Given the description of an element on the screen output the (x, y) to click on. 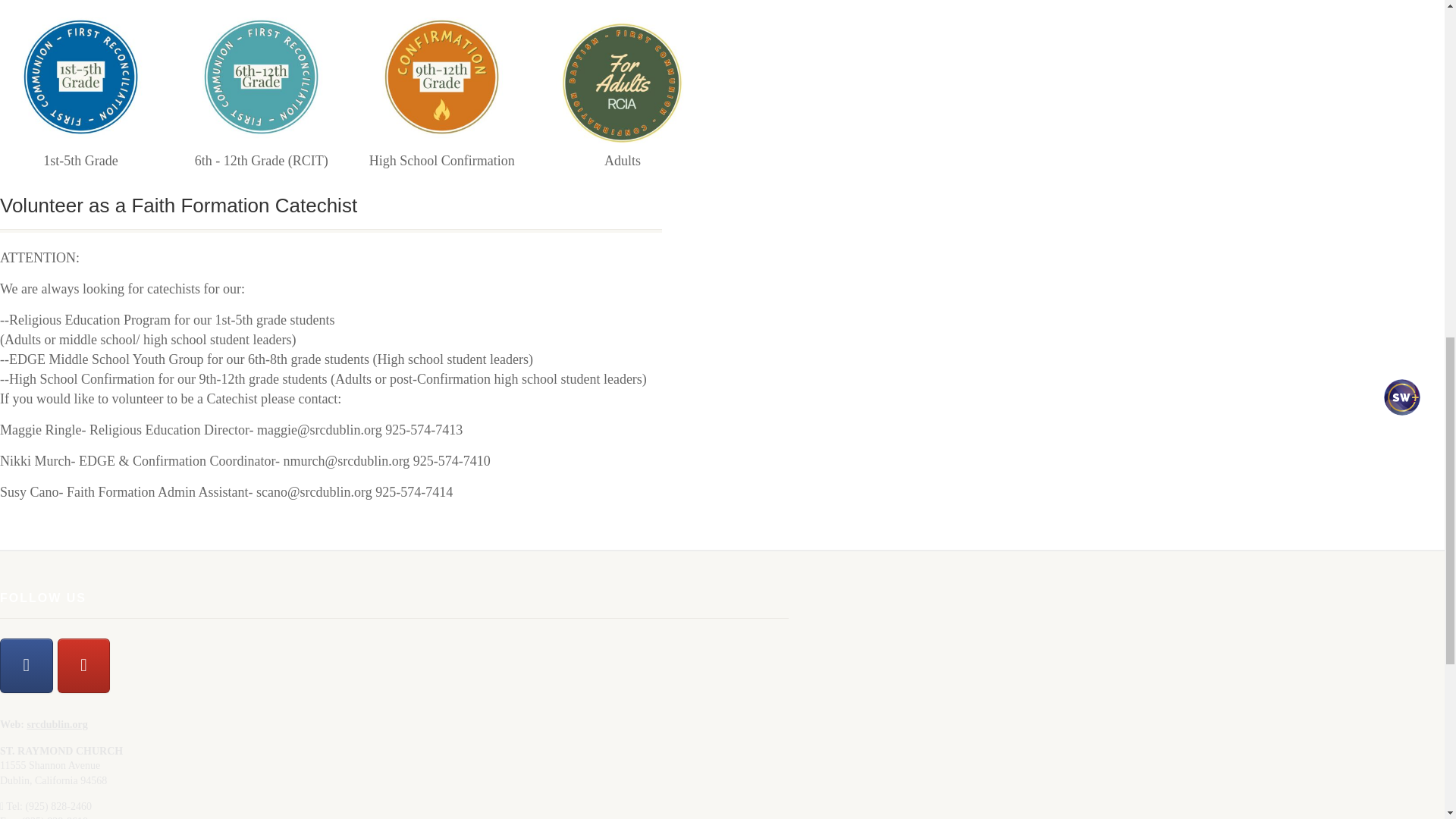
Adults (622, 76)
First Communion, First Reconciliation 6th-12th Grade (261, 76)
First Communion, First Reconciliation 1st - 5th (80, 76)
YouTube (84, 665)
St. Raymond Catholic Church in Dublin on Facebook (26, 665)
HS Confirmation (441, 76)
